Given the description of an element on the screen output the (x, y) to click on. 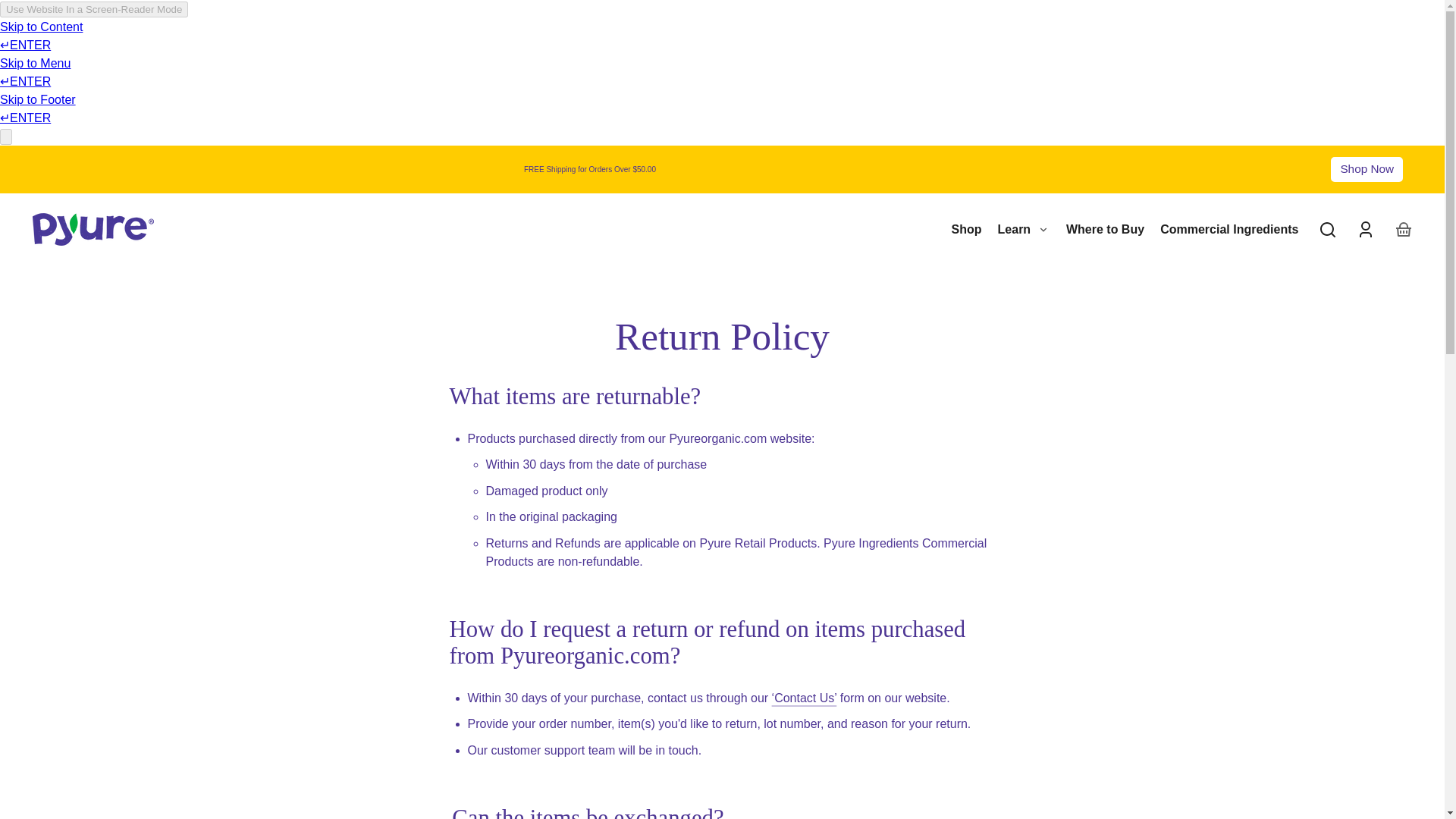
Shop (966, 229)
Skip to content (25, 209)
Log in (1365, 229)
Shop Now (1366, 169)
Commercial Ingredients (1229, 229)
Your basket (1404, 229)
Where to Buy (1104, 229)
